Given the description of an element on the screen output the (x, y) to click on. 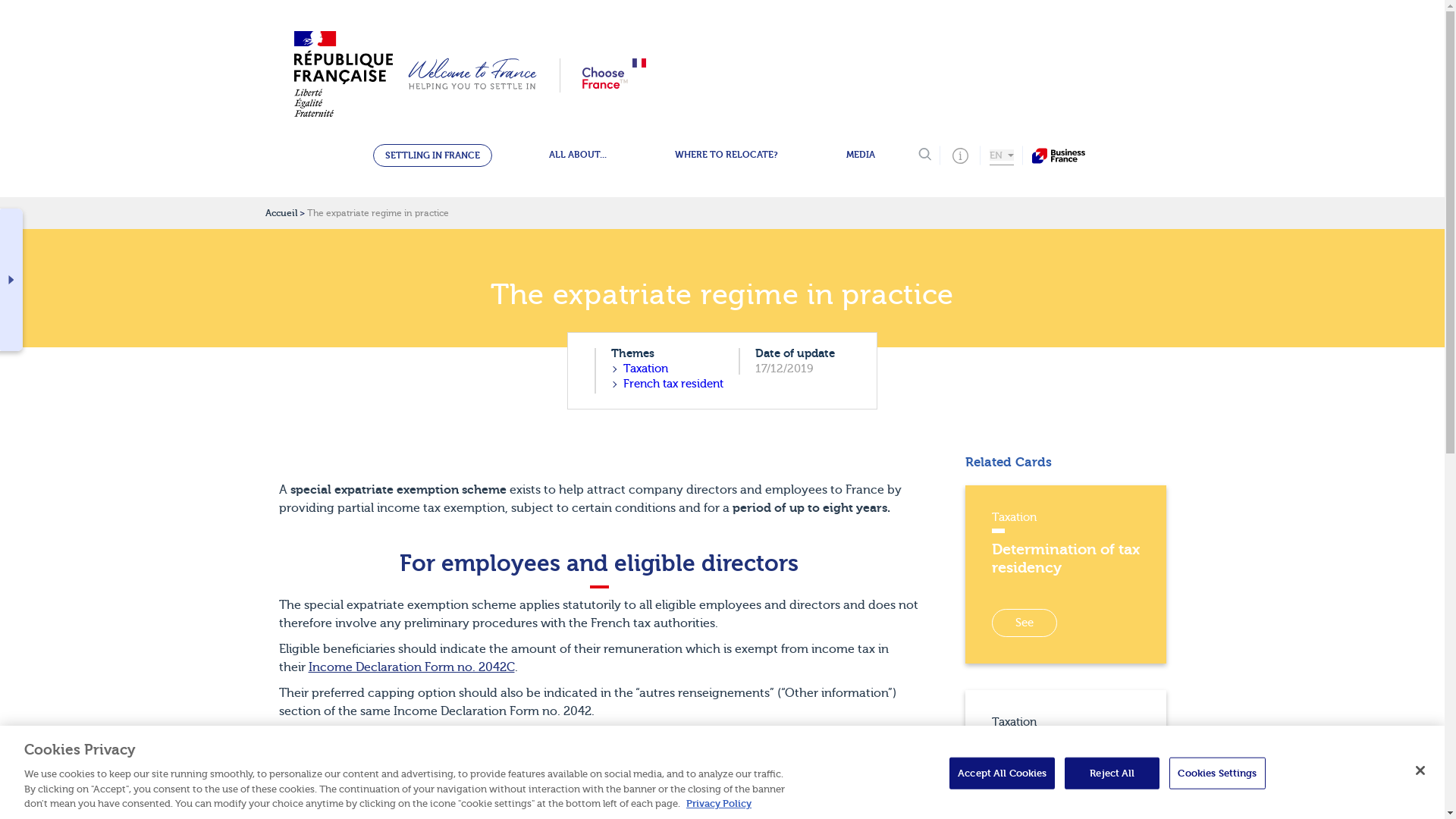
Taxation (667, 368)
SETTLING IN FRANCE (432, 155)
Income Declaration Form no. 2042C (410, 667)
French tax resident (667, 383)
WHERE TO RELOCATE? (726, 154)
See (1024, 623)
Accueil (280, 213)
ALL ABOUT... (577, 154)
MEDIA (860, 154)
